Given the description of an element on the screen output the (x, y) to click on. 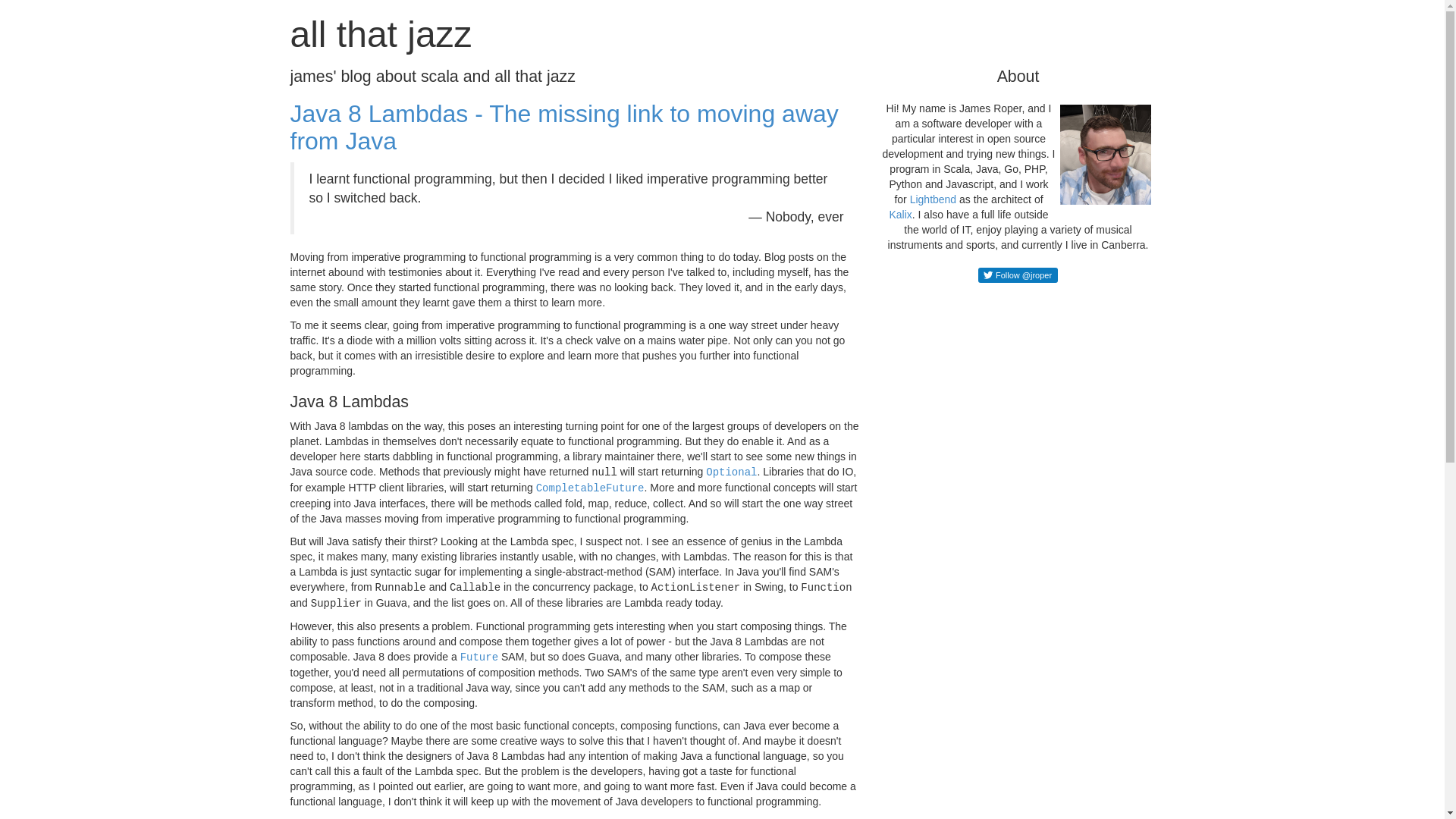
Optional Element type: text (731, 471)
all that jazz Element type: text (380, 34)
CompletableFuture Element type: text (590, 487)
Future Element type: text (479, 656)
Java 8 Lambdas - The missing link to moving away from Java Element type: text (563, 126)
Kalix Element type: text (899, 214)
Lightbend Element type: text (933, 199)
Follow @jroper Element type: text (1017, 274)
